Given the description of an element on the screen output the (x, y) to click on. 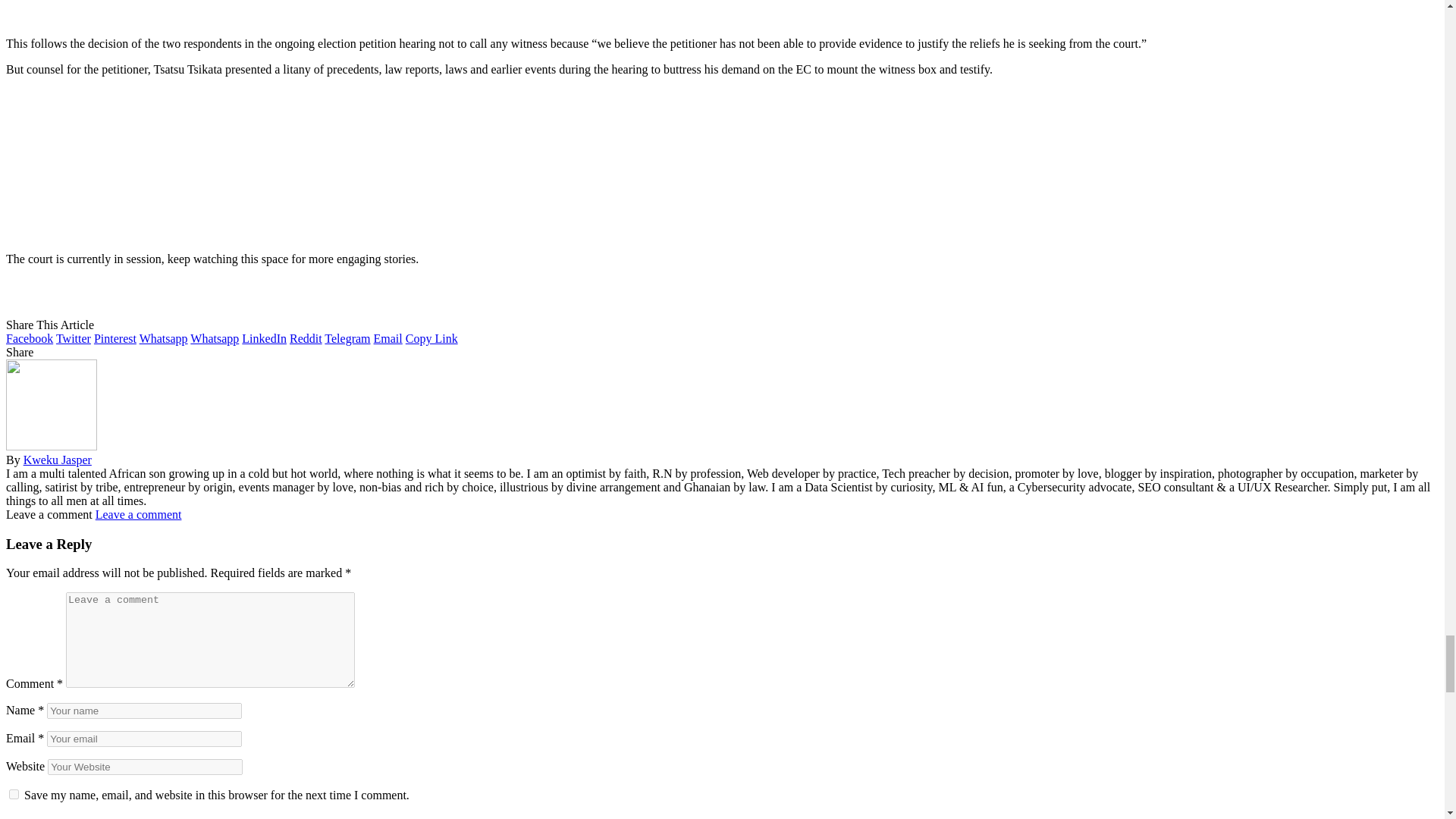
Facebook (28, 338)
Whatsapp (163, 338)
Whatsapp (214, 338)
yes (13, 794)
Twitter (73, 338)
Pinterest (115, 338)
